Given the description of an element on the screen output the (x, y) to click on. 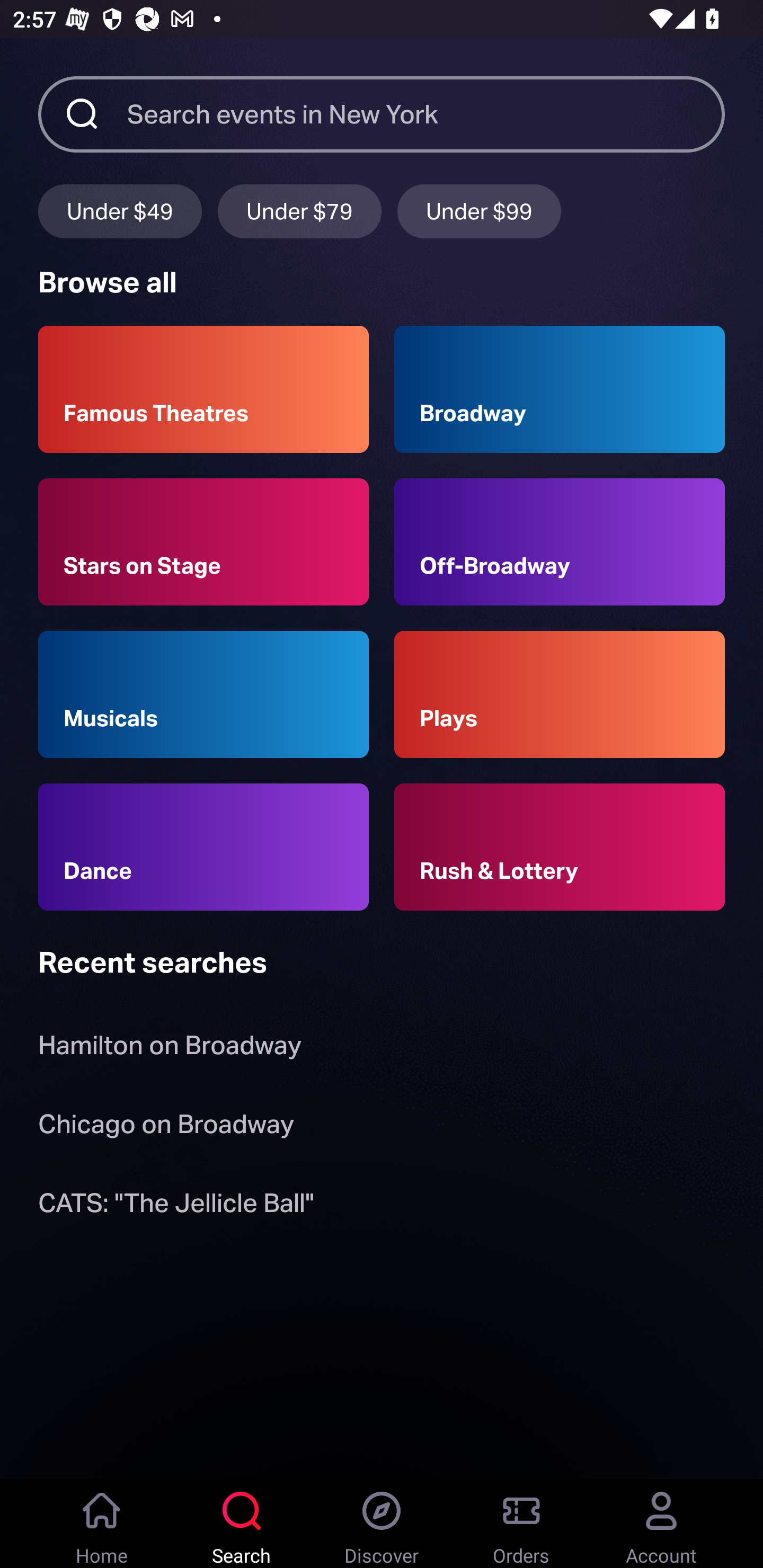
Search events in New York (425, 113)
Under $49 (120, 211)
Under $79 (299, 211)
Under $99 (478, 211)
Famous Theatres (203, 389)
Broadway (559, 389)
Stars on Stage (203, 541)
Off-Broadway (559, 541)
Musicals (203, 693)
Plays (559, 693)
Dance (203, 847)
Rush & Lottery (559, 847)
Hamilton on Broadway (169, 1048)
Chicago on Broadway (165, 1127)
CATS: "The Jellicle Ball" (176, 1205)
Home (101, 1523)
Discover (381, 1523)
Orders (521, 1523)
Account (660, 1523)
